Given the description of an element on the screen output the (x, y) to click on. 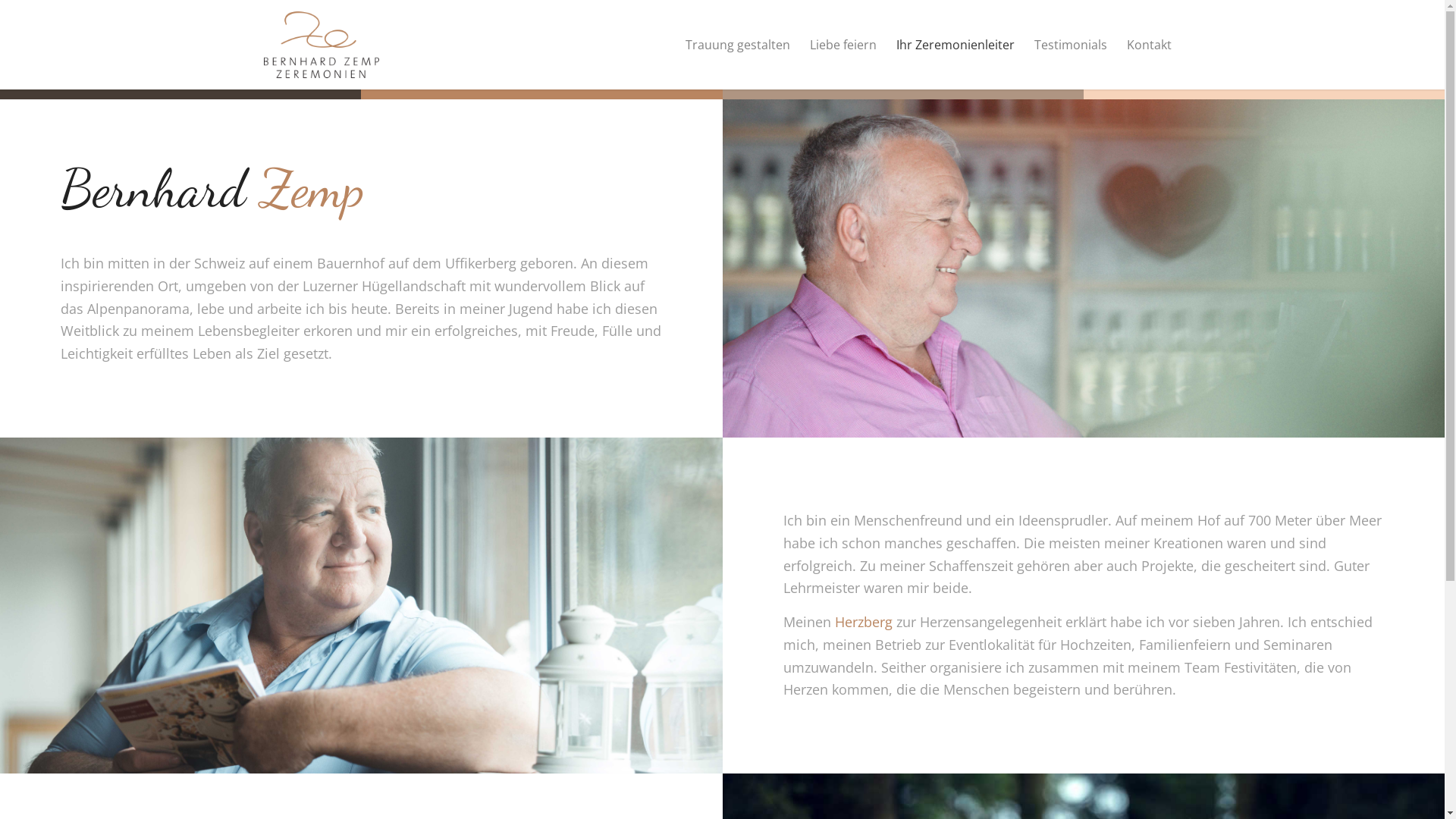
Trauung gestalten Element type: text (736, 44)
Liebe feiern Element type: text (842, 44)
Kontakt Element type: text (1148, 44)
Testimonials Element type: text (1069, 44)
Herzberg Element type: text (862, 621)
Ihr Zeremonienleiter Element type: text (954, 44)
